Given the description of an element on the screen output the (x, y) to click on. 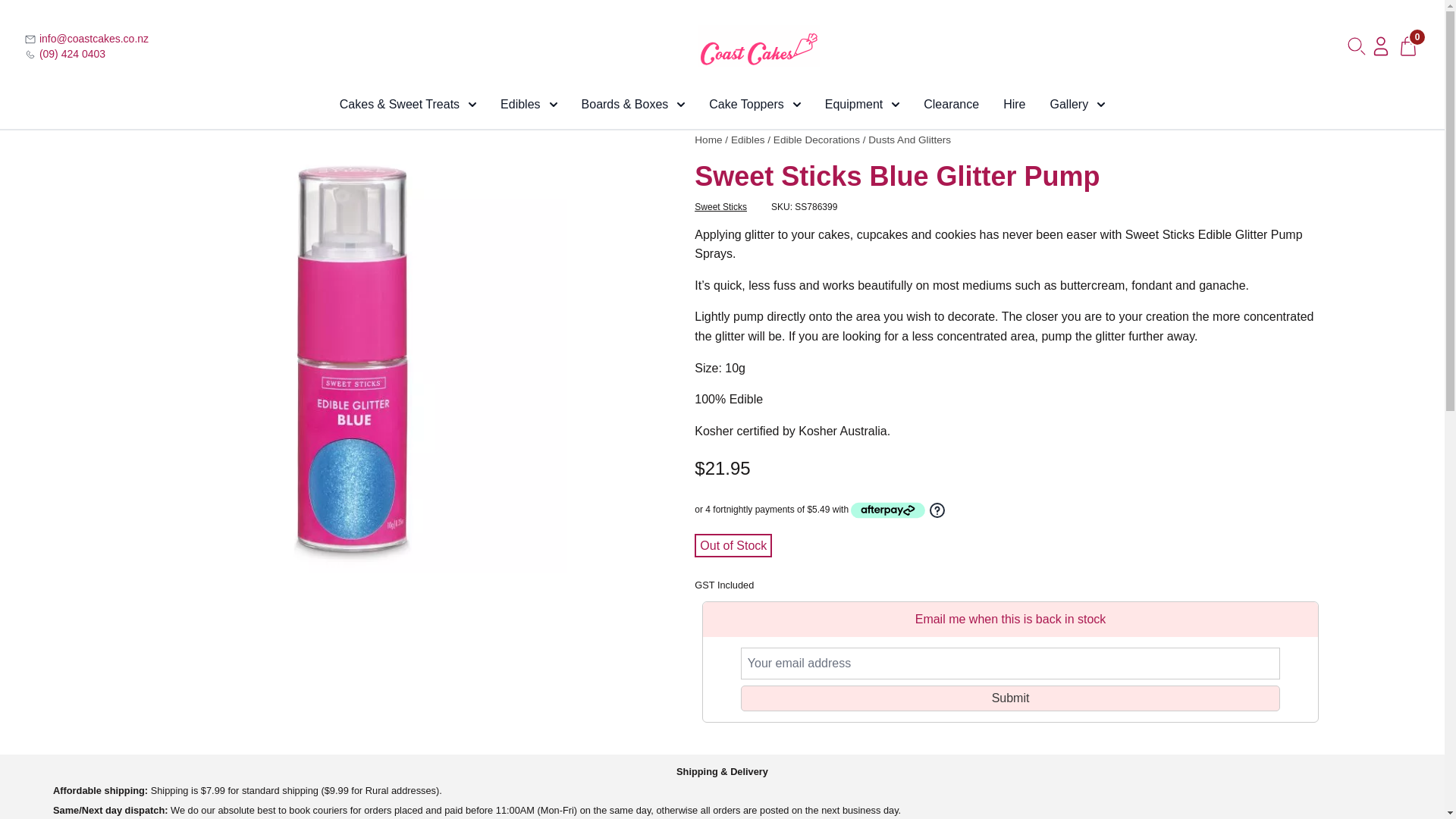
Submit (1010, 698)
View cart (1408, 46)
Edibles (528, 104)
